Given the description of an element on the screen output the (x, y) to click on. 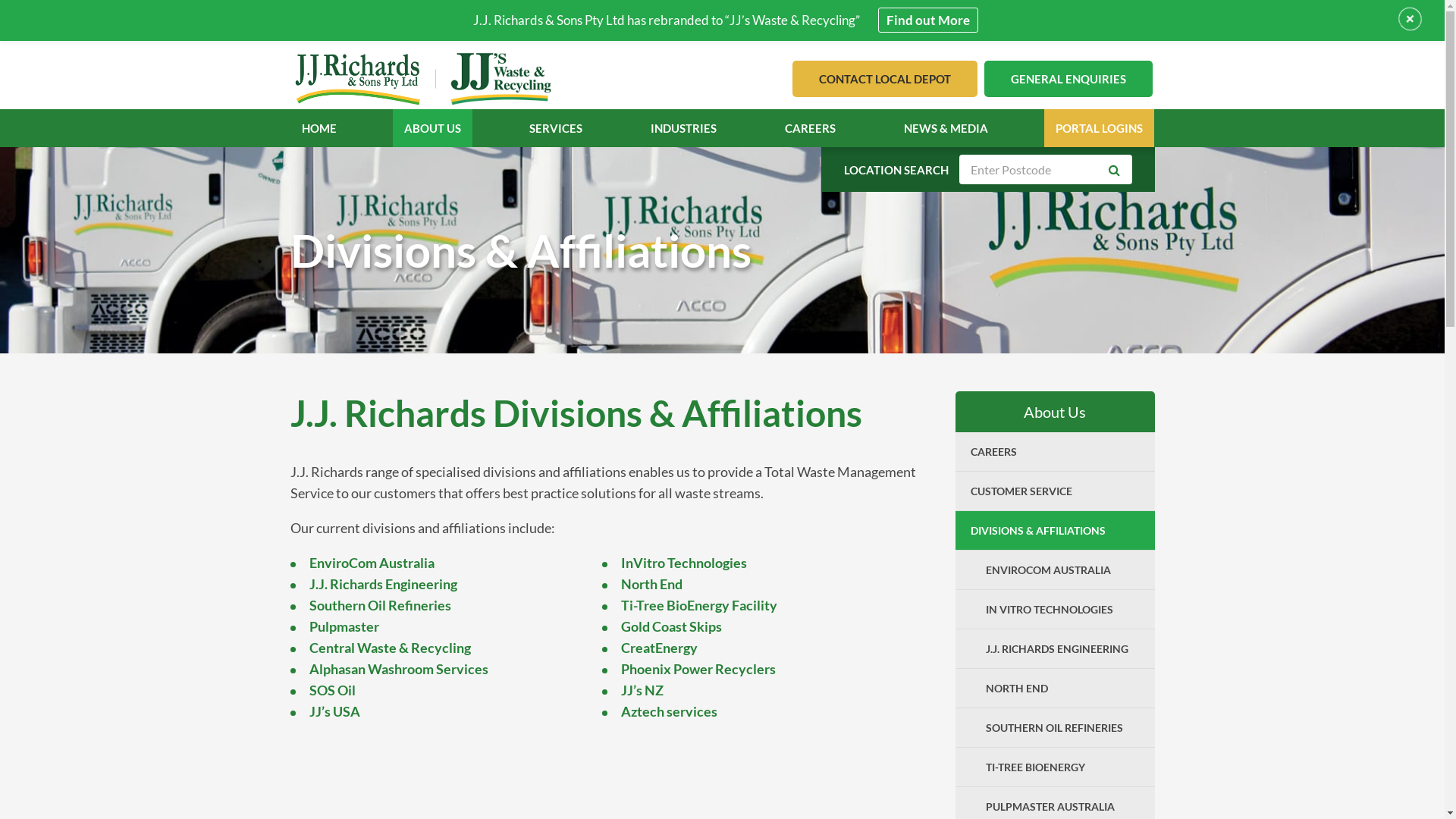
CAREERS Element type: text (809, 128)
IN VITRO TECHNOLOGIES Element type: text (1062, 608)
DIVISIONS & AFFILIATIONS Element type: text (1054, 530)
SERVICES Element type: text (555, 128)
NEWS & MEDIA Element type: text (945, 128)
Gold Coast Skips Element type: text (671, 626)
North End Element type: text (651, 583)
EnviroCom Australia Element type: text (371, 562)
Central Waste & Recycling Element type: text (389, 647)
Pulpmaster Element type: text (344, 626)
J.J. RICHARDS ENGINEERING Element type: text (1062, 648)
InVitro Technologies Element type: text (683, 562)
Alphasan Washroom Services Element type: text (398, 668)
GENERAL ENQUIRIES Element type: text (1068, 78)
ABOUT US Element type: text (432, 128)
CreatEnergy Element type: text (659, 647)
Find out More Element type: text (928, 19)
SOUTHERN OIL REFINERIES Element type: text (1062, 727)
J.J. Richards Engineering Element type: text (383, 583)
Southern Oil Refineries Element type: text (380, 604)
HOME Element type: text (318, 128)
SOS Oil Element type: text (332, 689)
+ Element type: text (1409, 18)
INDUSTRIES Element type: text (683, 128)
PORTAL LOGINS Element type: text (1098, 128)
Phoenix Power Recyclers Element type: text (698, 668)
Ti-Tree BioEnergy Facility Element type: text (699, 604)
CONTACT LOCAL DEPOT Element type: text (883, 78)
CAREERS Element type: text (1054, 451)
ENVIROCOM AUSTRALIA Element type: text (1062, 569)
CUSTOMER SERVICE Element type: text (1054, 490)
TI-TREE BIOENERGY Element type: text (1062, 766)
NORTH END Element type: text (1062, 687)
Aztech services Element type: text (669, 710)
